Given the description of an element on the screen output the (x, y) to click on. 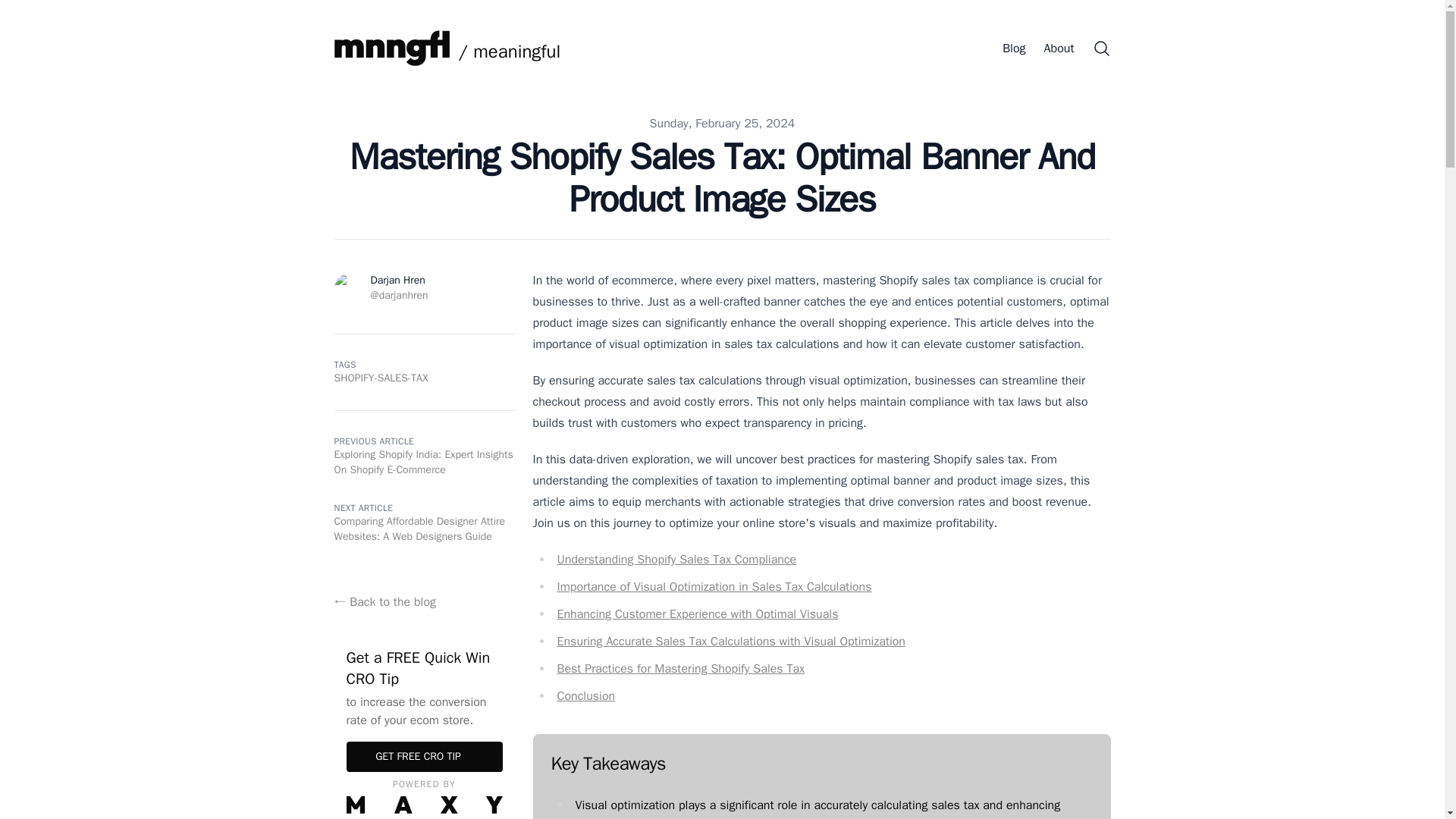
Best Practices for Mastering Shopify Sales Tax (680, 668)
SHOPIFY-SALES-TAX (380, 378)
Conclusion (585, 695)
About (1058, 48)
Blog (1014, 48)
GET FREE CRO TIP (424, 757)
Understanding Shopify Sales Tax Compliance (676, 559)
Enhancing Customer Experience with Optimal Visuals (697, 613)
Importance of Visual Optimization in Sales Tax Calculations (713, 586)
